Given the description of an element on the screen output the (x, y) to click on. 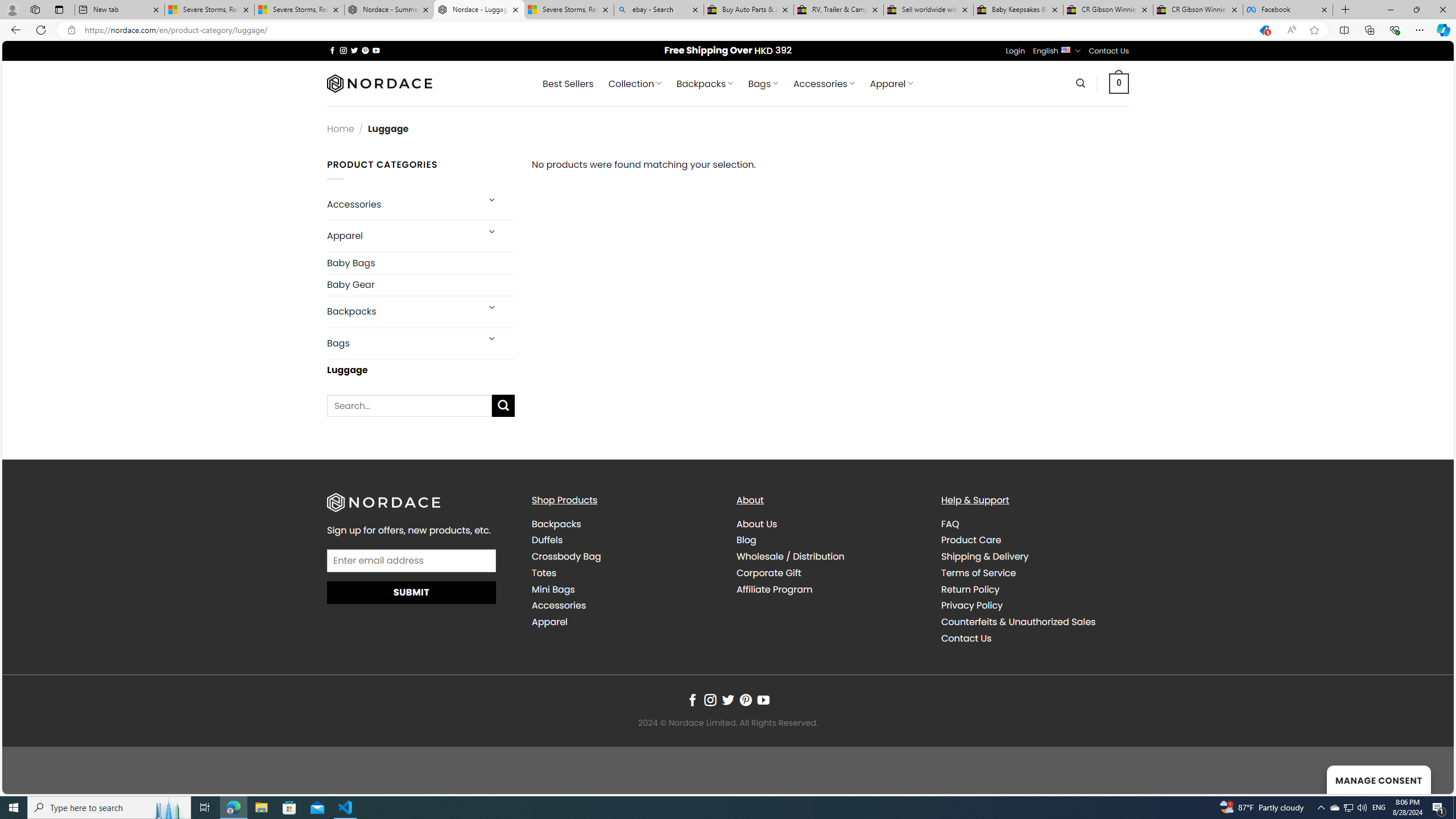
FAQ (949, 523)
Duffels (547, 540)
Return Policy (970, 589)
Crossbody Bag (566, 556)
Restore (1416, 9)
MANAGE CONSENT (1378, 779)
Baby Bags (421, 262)
Home (340, 128)
Terms of Service (978, 572)
RV, Trailer & Camper Steps & Ladders for sale | eBay (838, 9)
Workspaces (34, 9)
Buy Auto Parts & Accessories | eBay (747, 9)
Privacy Policy (1034, 605)
